Given the description of an element on the screen output the (x, y) to click on. 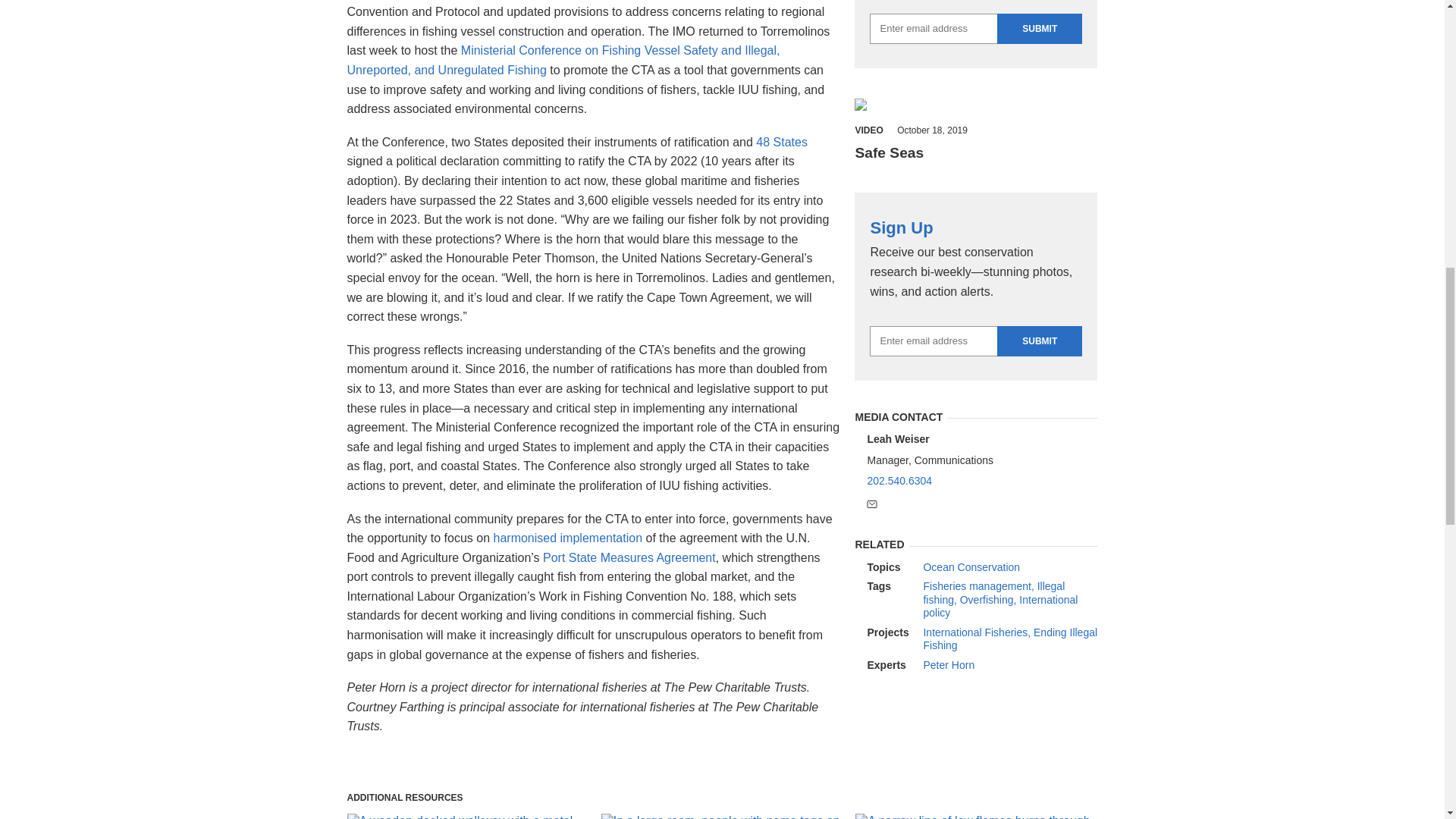
Submit (1039, 28)
Fishing vessel (898, 105)
Submit (1039, 340)
